Given the description of an element on the screen output the (x, y) to click on. 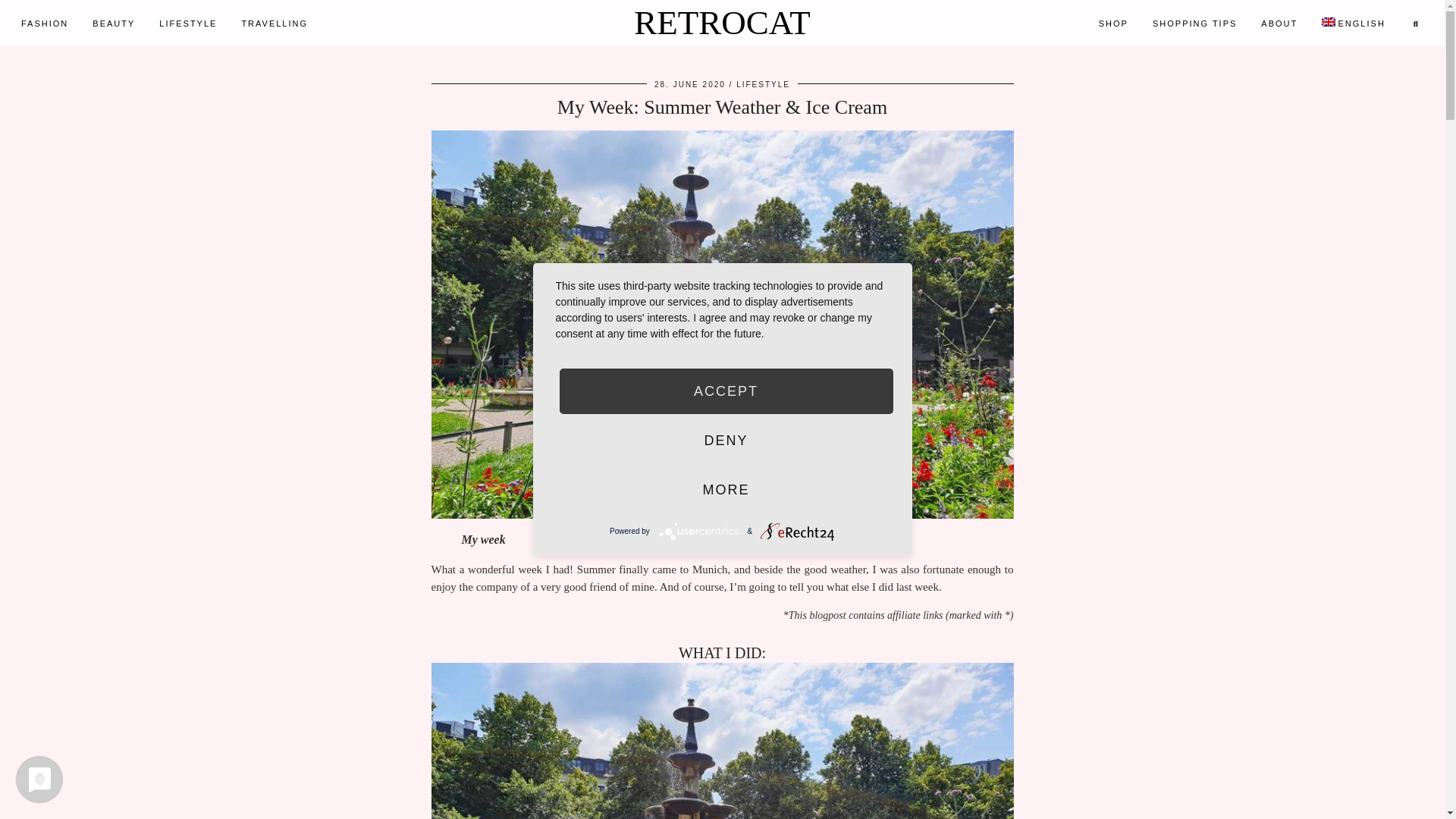
English (1352, 23)
RetroCat (721, 22)
